Given the description of an element on the screen output the (x, y) to click on. 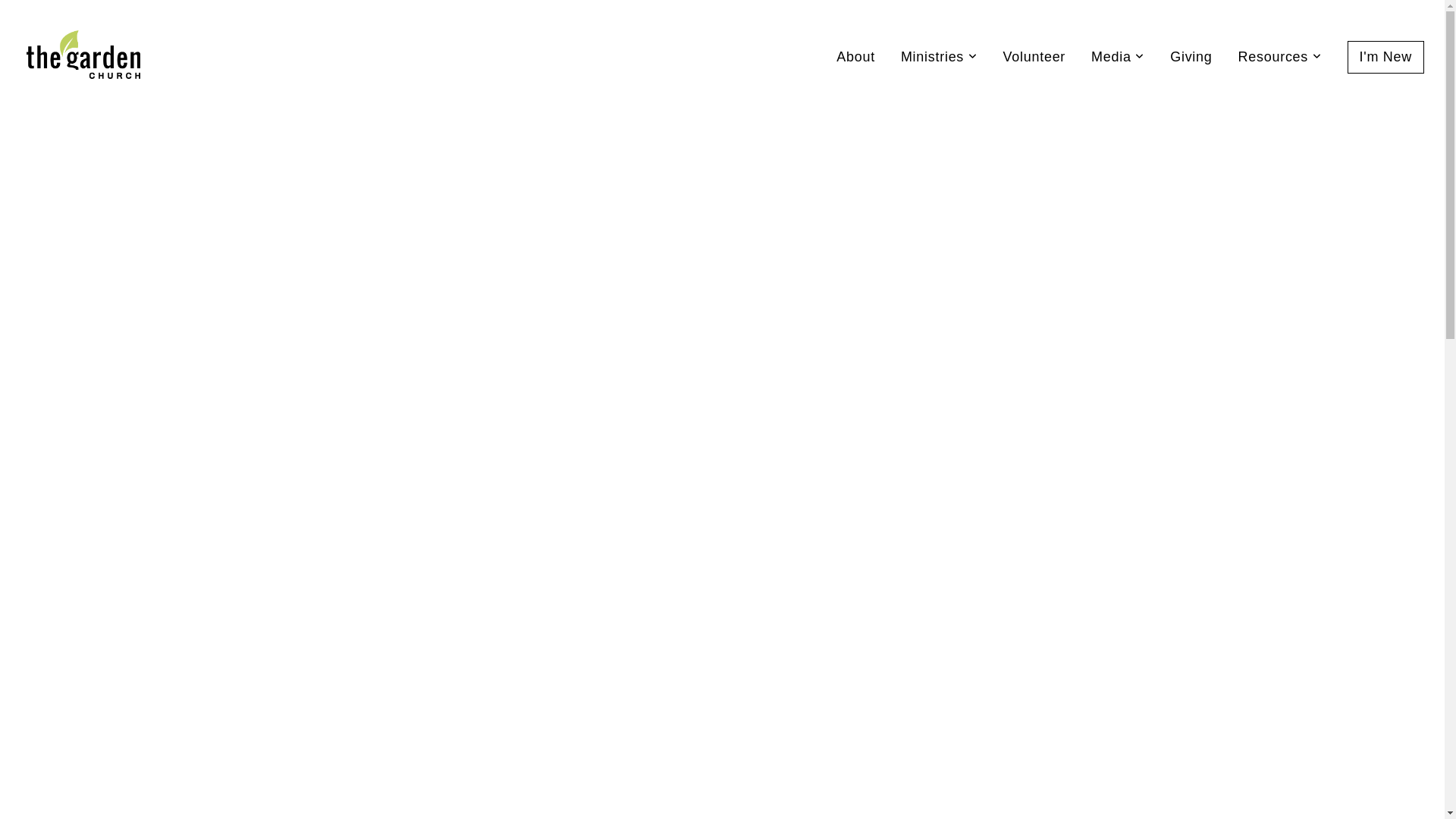
Resources  Element type: text (1279, 56)
About Element type: text (855, 56)
Volunteer Element type: text (1034, 56)
I'm New Element type: text (1385, 56)
Media  Element type: text (1117, 56)
Ministries  Element type: text (938, 56)
Giving Element type: text (1190, 56)
WATCH LIVESTREAM Element type: text (489, 707)
VISIT US IN PERSON Element type: text (955, 707)
